Given the description of an element on the screen output the (x, y) to click on. 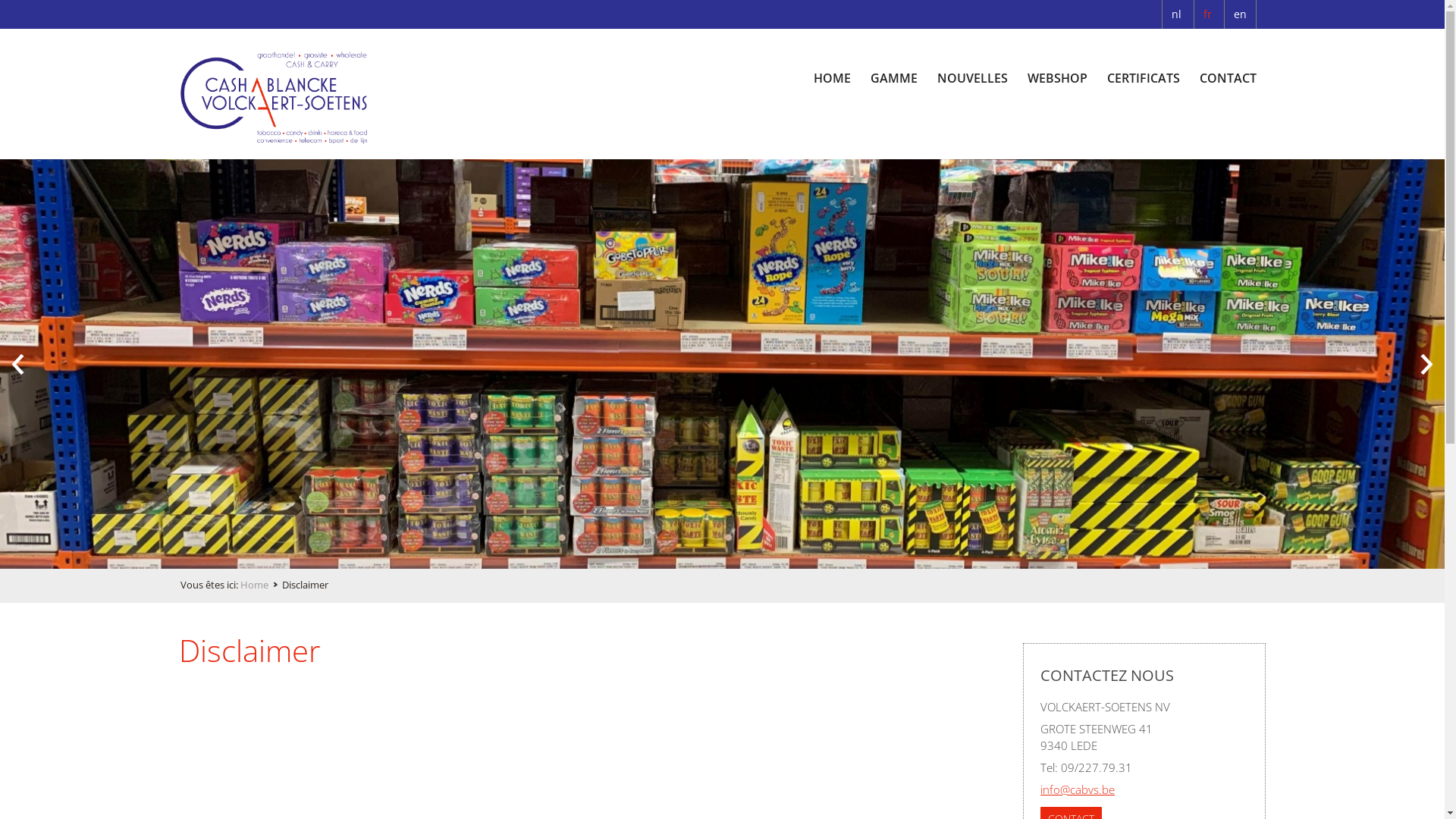
WEBSHOP Element type: text (1057, 76)
fr Element type: text (1206, 14)
en Element type: text (1239, 14)
nl Element type: text (1175, 14)
info@cabvs.be Element type: text (1077, 789)
GAMME Element type: text (893, 76)
Home Element type: text (261, 584)
CONTACT Element type: text (1227, 76)
HOME Element type: text (831, 76)
NOUVELLES Element type: text (972, 76)
CERTIFICATS Element type: text (1143, 76)
